Given the description of an element on the screen output the (x, y) to click on. 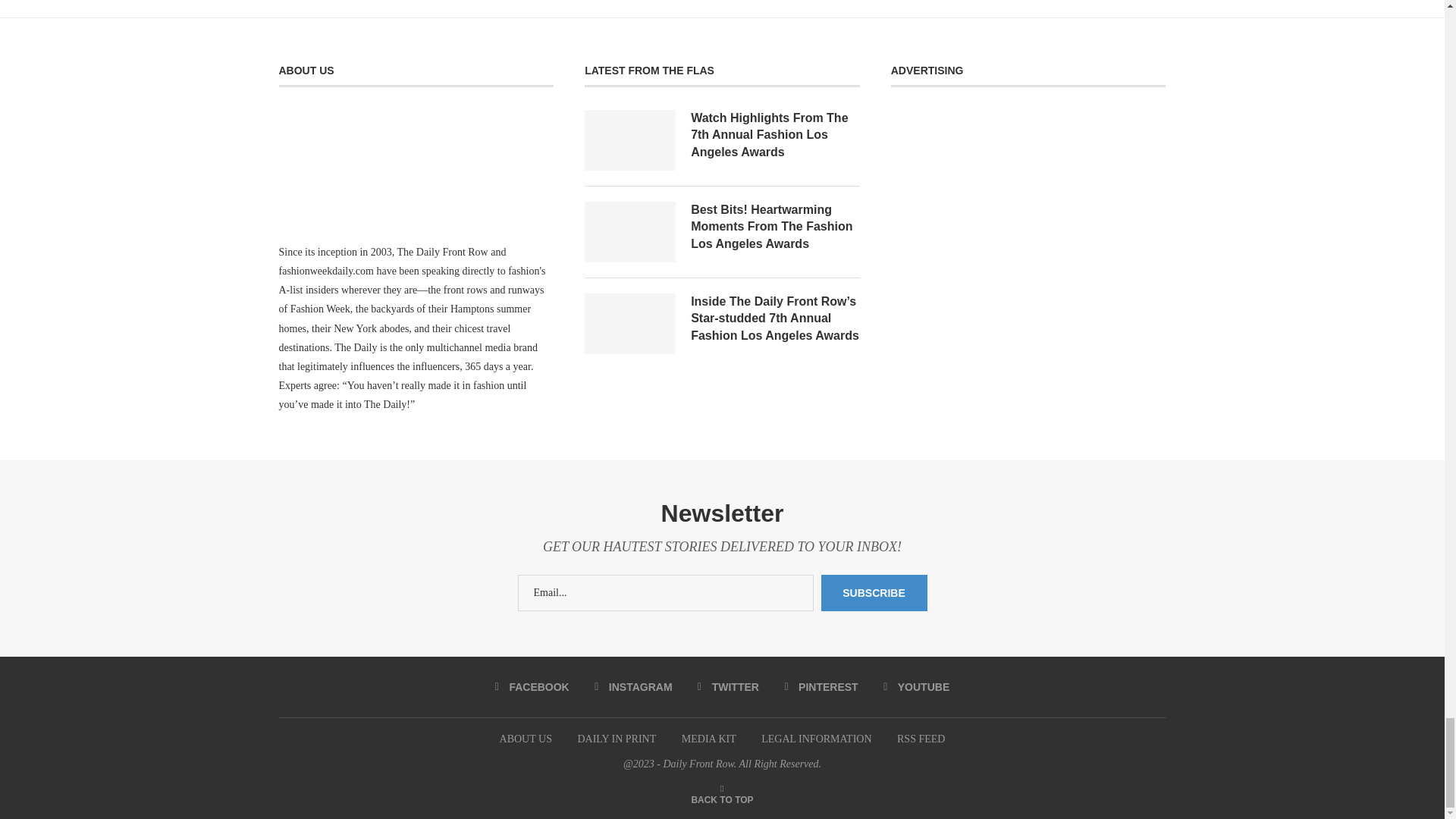
Subscribe (873, 592)
